Given the description of an element on the screen output the (x, y) to click on. 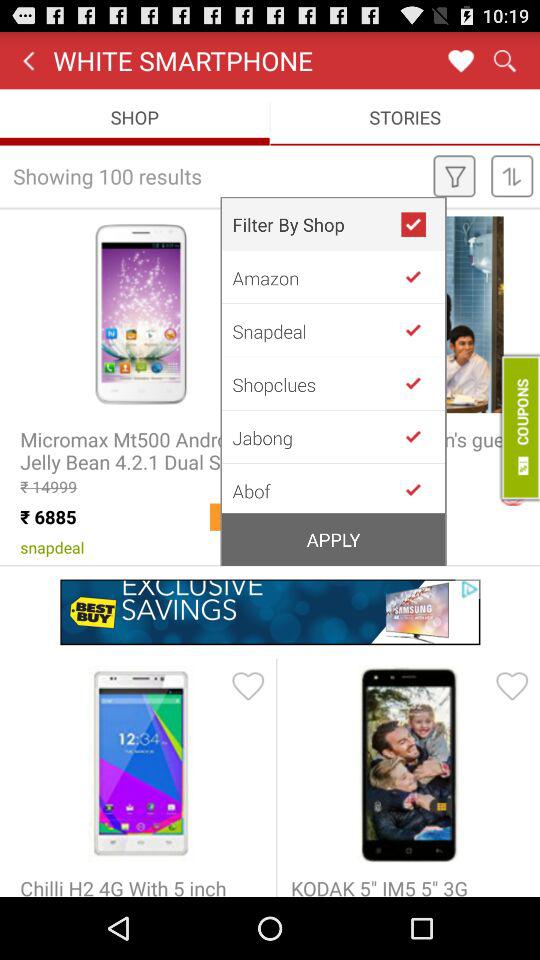
swipe until the shopclues item (316, 383)
